Given the description of an element on the screen output the (x, y) to click on. 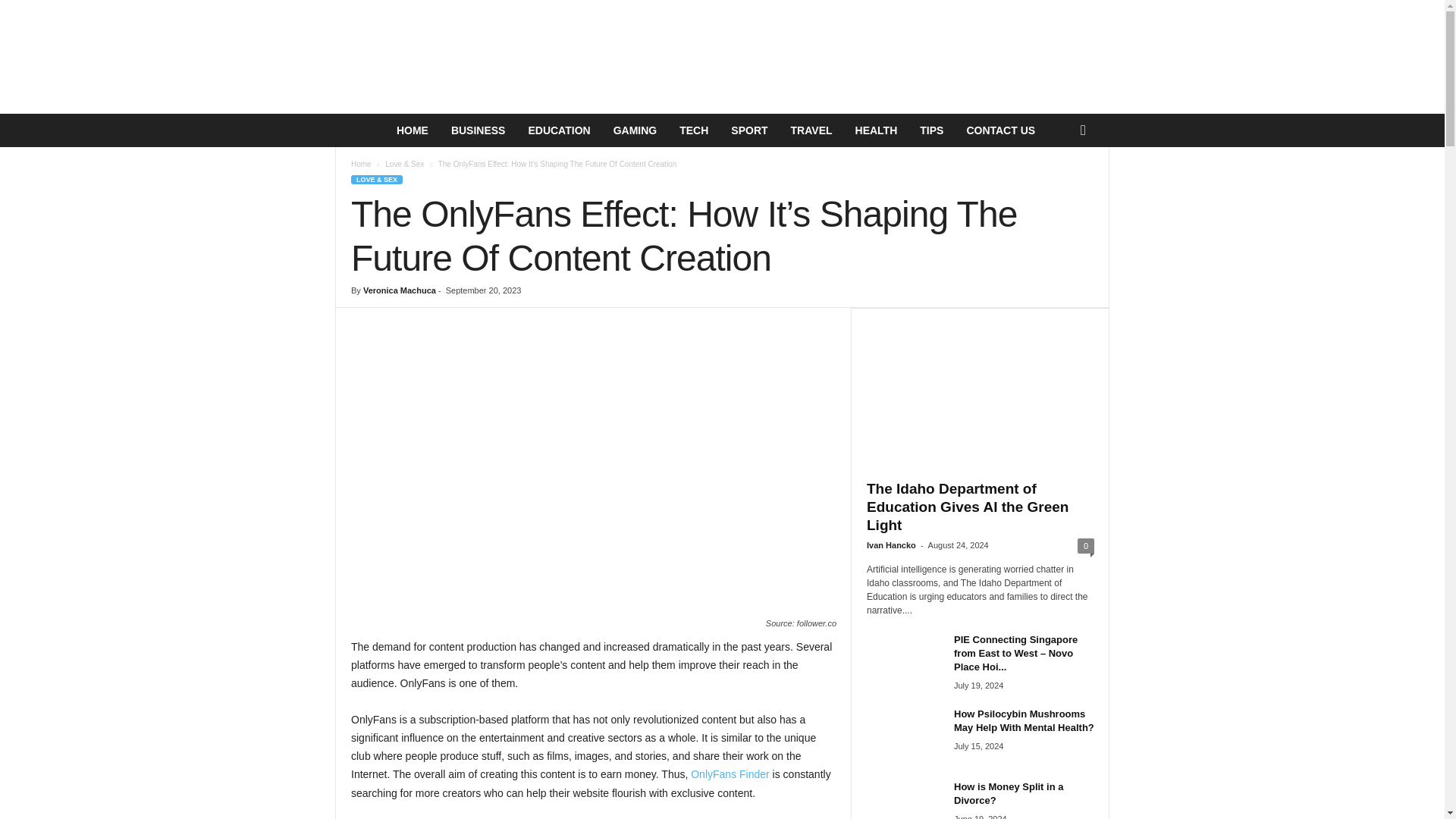
OnlyFans Finder (729, 774)
Home (360, 163)
HEALTH (876, 130)
BUSINESS (477, 130)
SPORT (748, 130)
EDUCATION (558, 130)
Veronica Machuca (398, 289)
TIPS (931, 130)
CONTACT US (1000, 130)
